Given the description of an element on the screen output the (x, y) to click on. 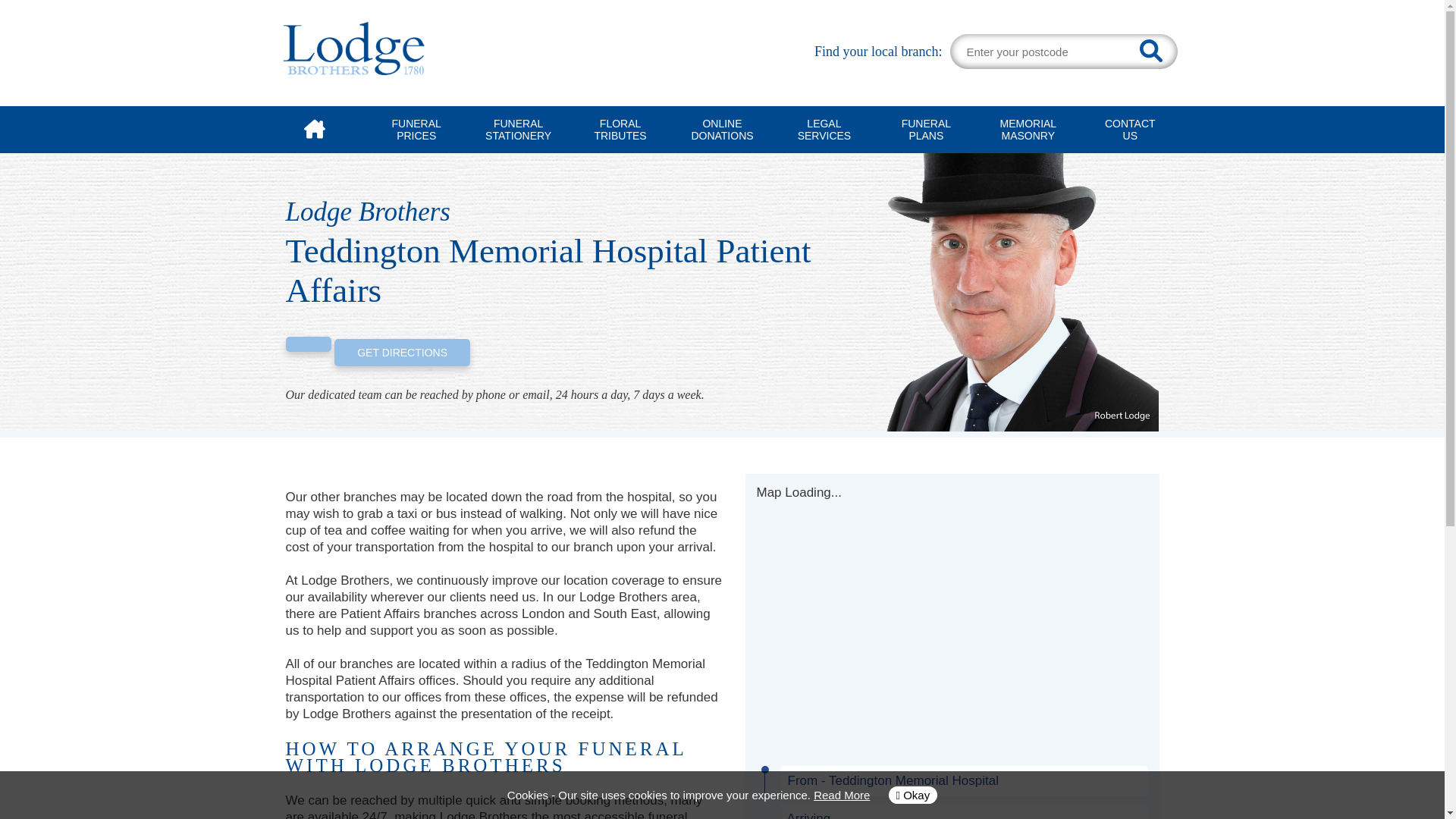
GET DIRECTIONS (402, 352)
Lodge Brothers Contact (1020, 292)
Read More (823, 129)
Lodge Brothers (1129, 129)
